Given the description of an element on the screen output the (x, y) to click on. 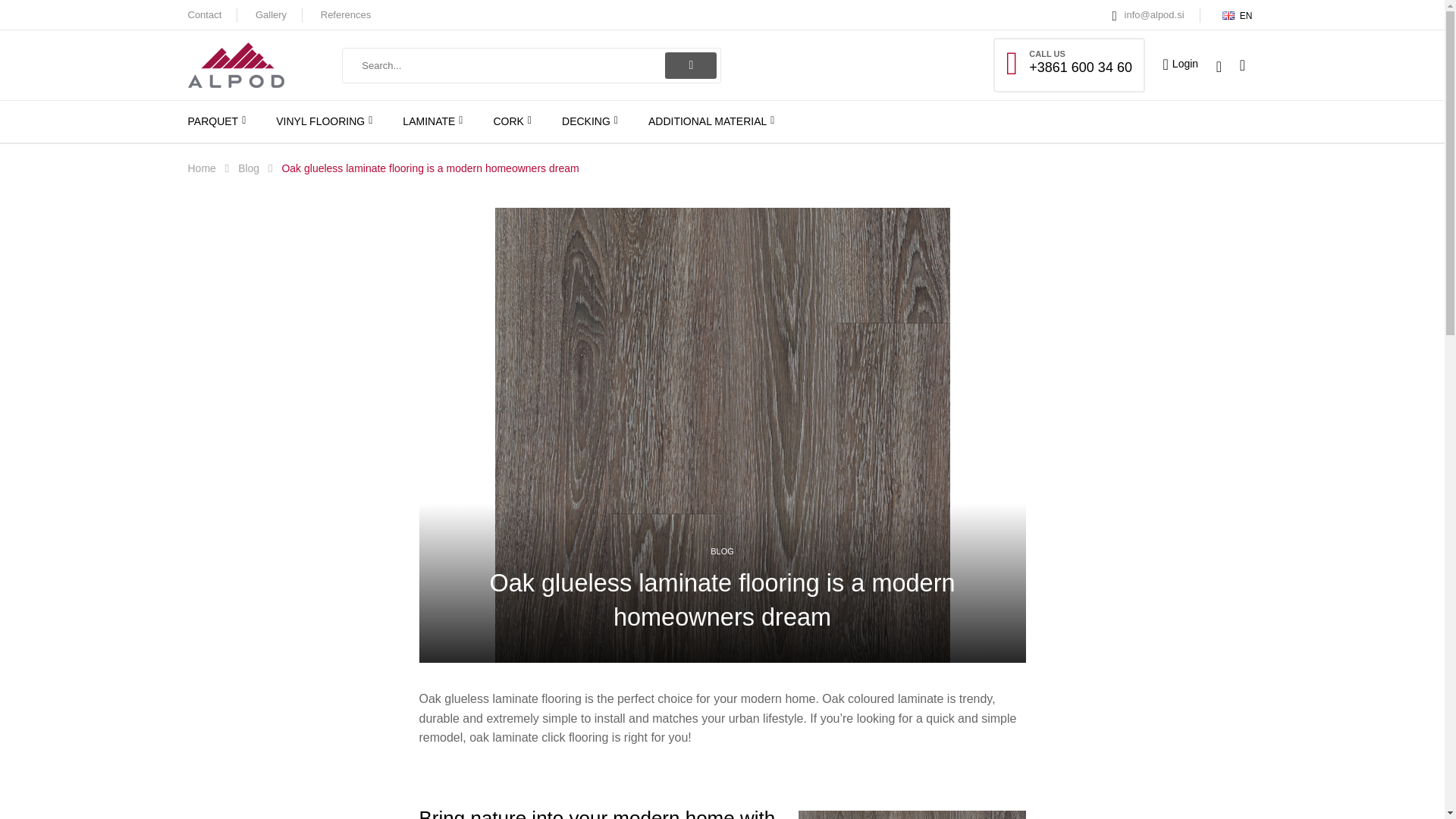
Contact (204, 14)
Oak glueless laminate flooring (911, 814)
References (345, 14)
EN (1236, 15)
Gallery (271, 14)
LAMINATE (433, 121)
PARQUET (216, 121)
search (690, 64)
VINYL FLOORING (324, 121)
